Given the description of an element on the screen output the (x, y) to click on. 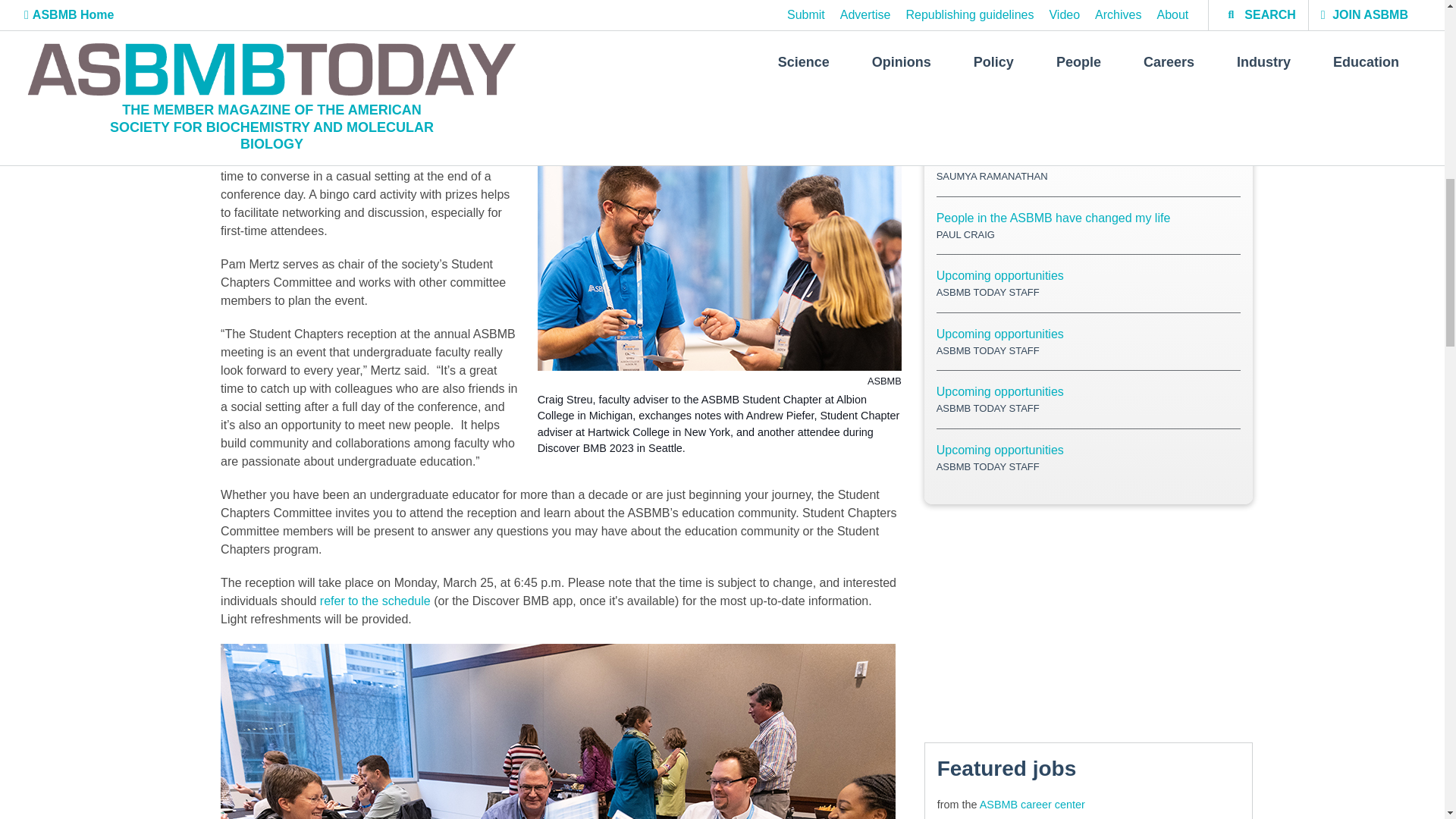
3rd party ad content (1088, 623)
